Given the description of an element on the screen output the (x, y) to click on. 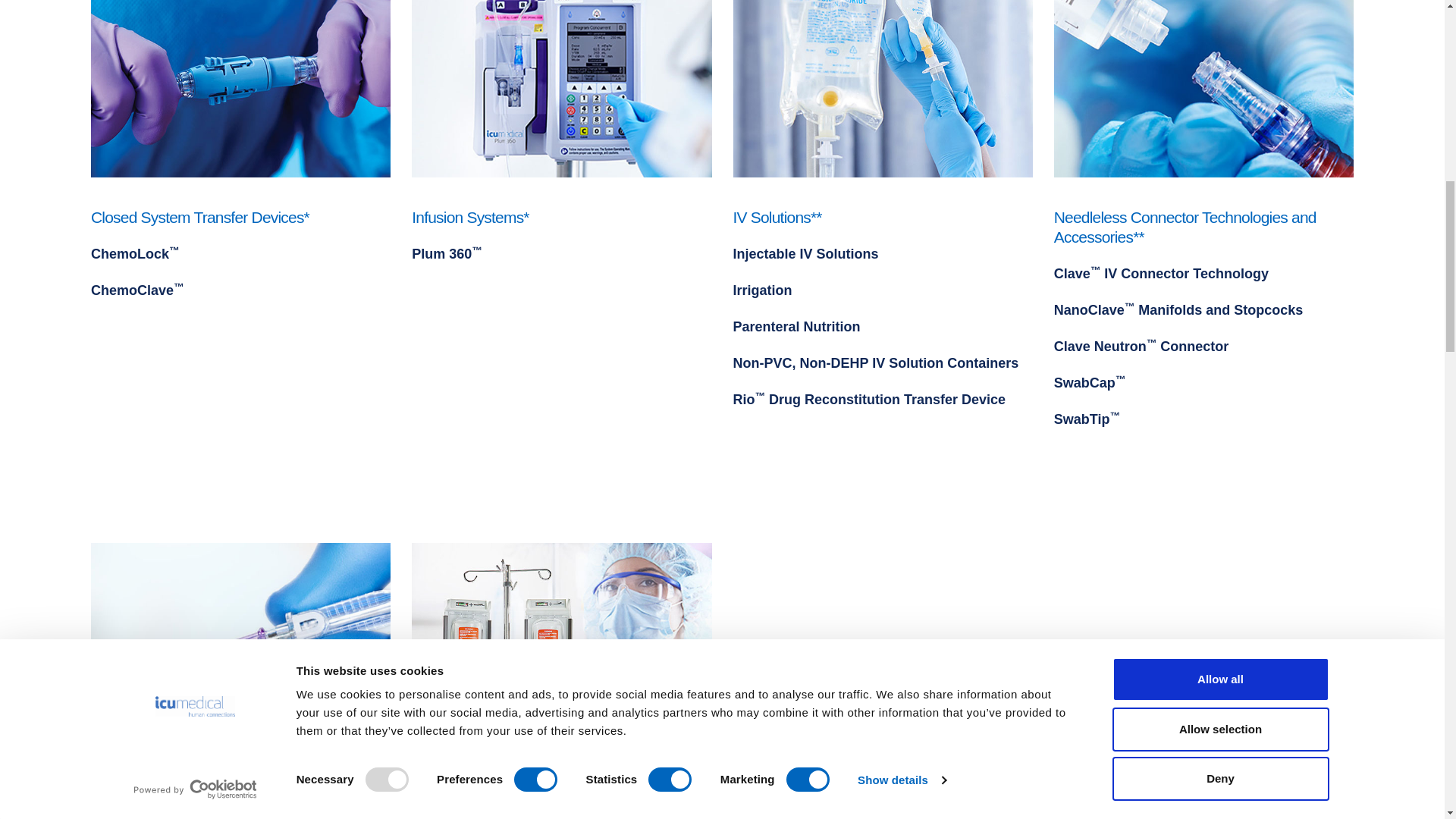
Parenteral Nutrition (796, 326)
ChemoClave (137, 290)
Irrigation (762, 290)
Non-PVC, Non-DEHP IV Solution Containers (874, 363)
Injectable IV Solutions (804, 253)
Rio Drug Reconstitution Transfer Device (869, 399)
ChemoLock (134, 253)
